Given the description of an element on the screen output the (x, y) to click on. 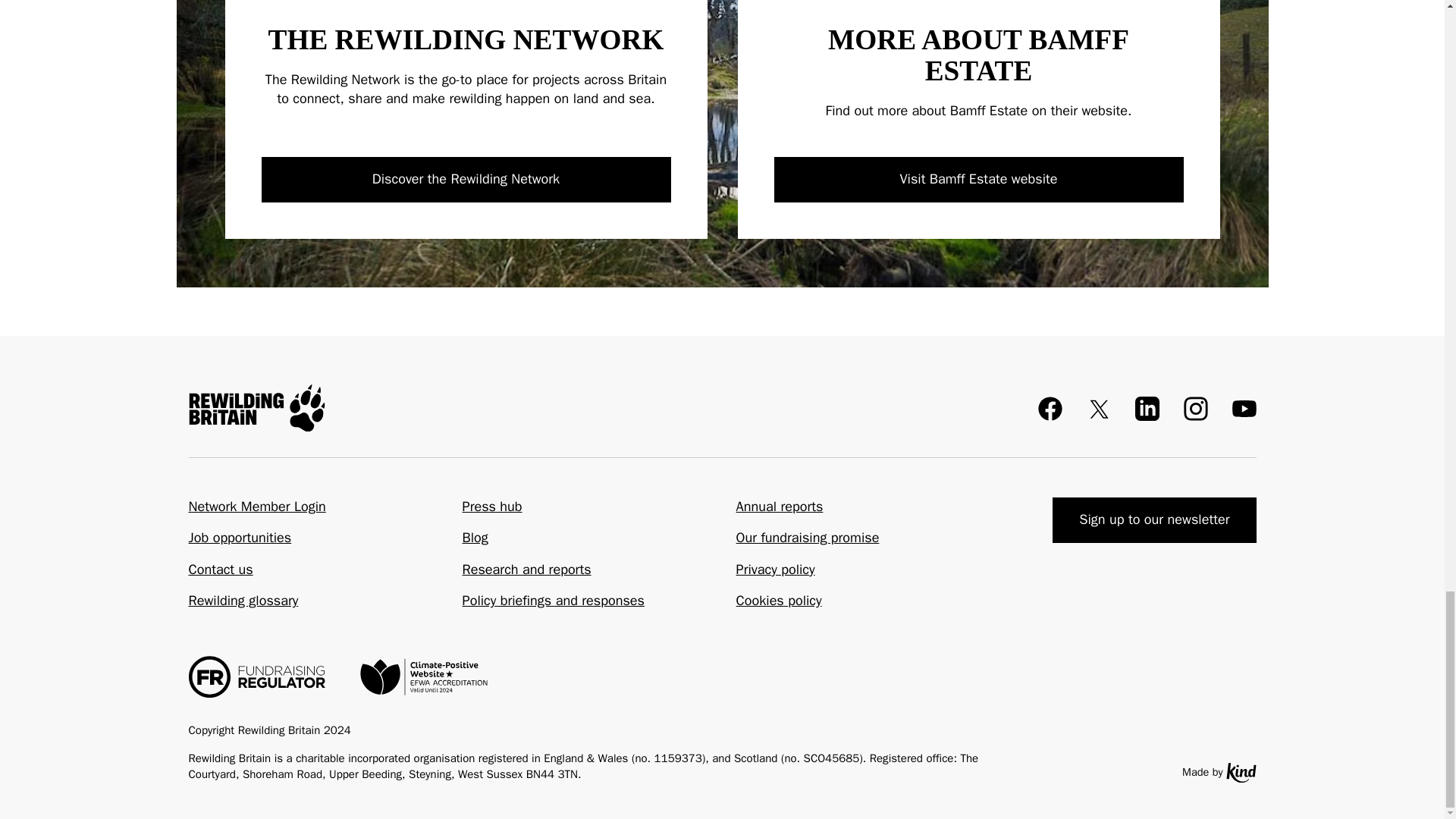
Return to the Rewilding Britain home page (255, 408)
